Given the description of an element on the screen output the (x, y) to click on. 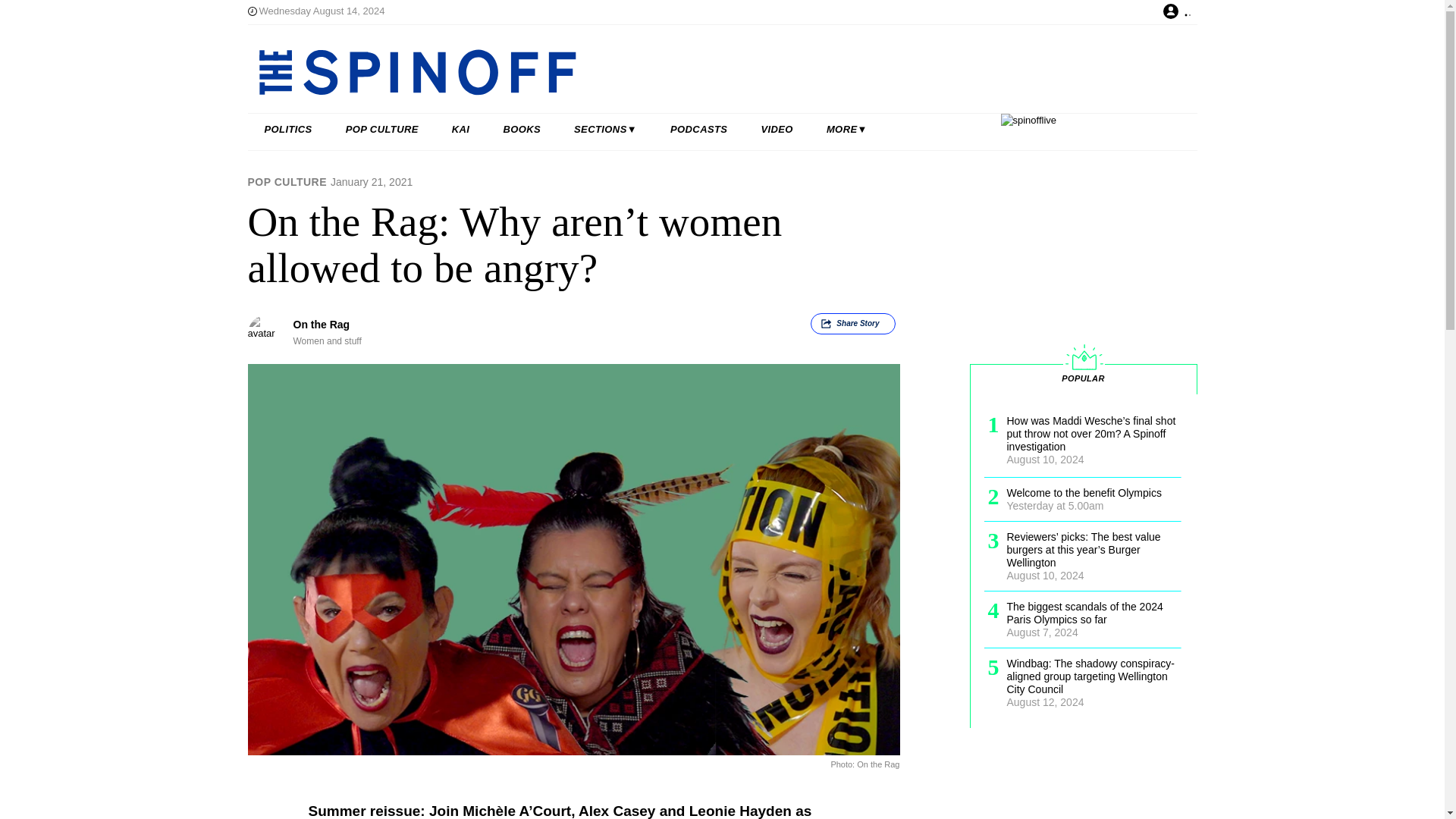
view all posts by On the Rag (320, 324)
PODCASTS (698, 129)
MORE (846, 129)
The Spinoff (673, 72)
POLITICS (288, 129)
KAI (460, 129)
VIDEO (776, 129)
BOOKS (521, 129)
SECTIONS (605, 129)
POP CULTURE (382, 129)
